Given the description of an element on the screen output the (x, y) to click on. 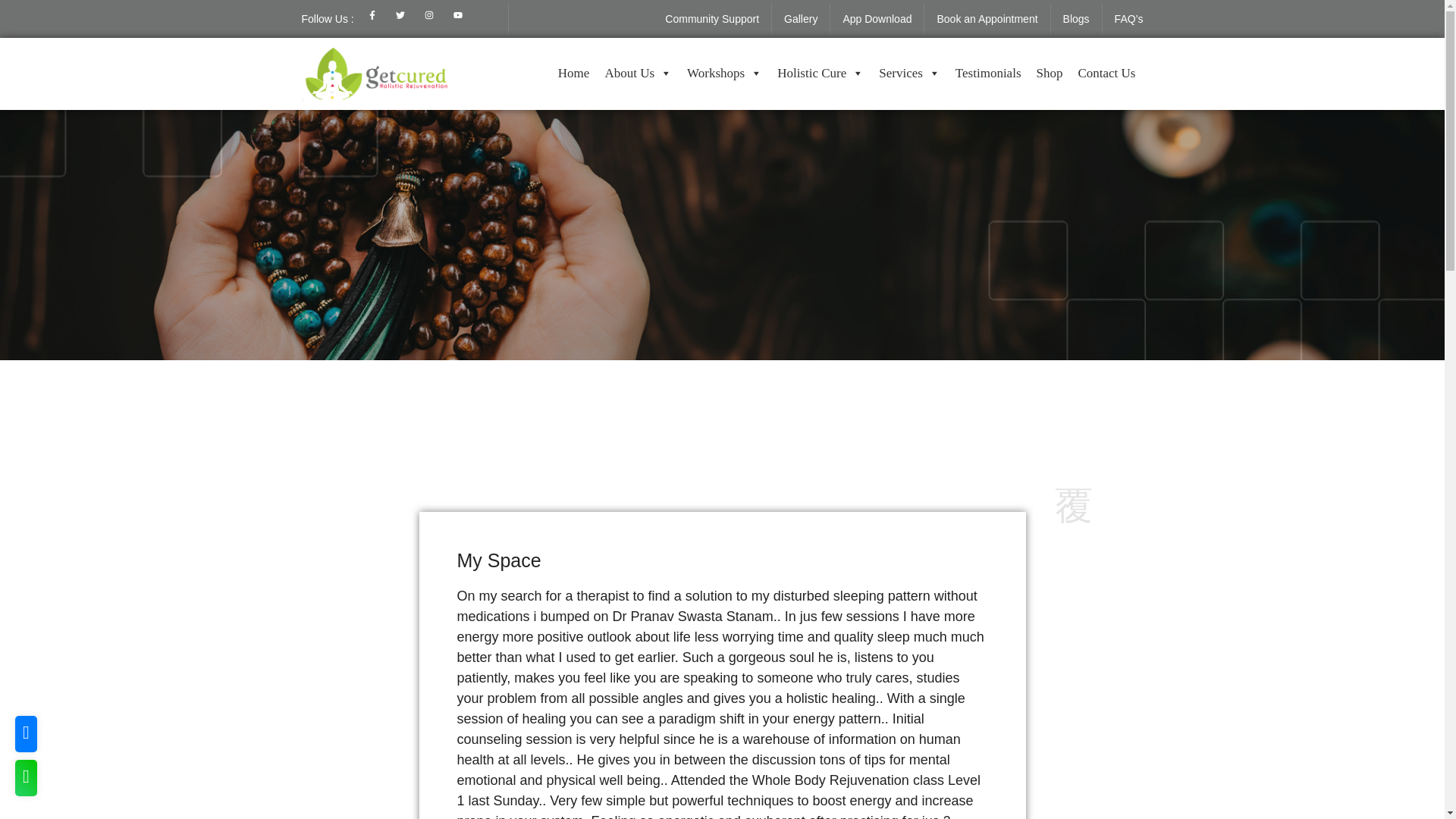
Home (573, 73)
About Us (637, 73)
Workshops (724, 73)
Community Support (711, 19)
App Download (877, 19)
Gallery (800, 19)
Book an Appointment (986, 19)
